Given the description of an element on the screen output the (x, y) to click on. 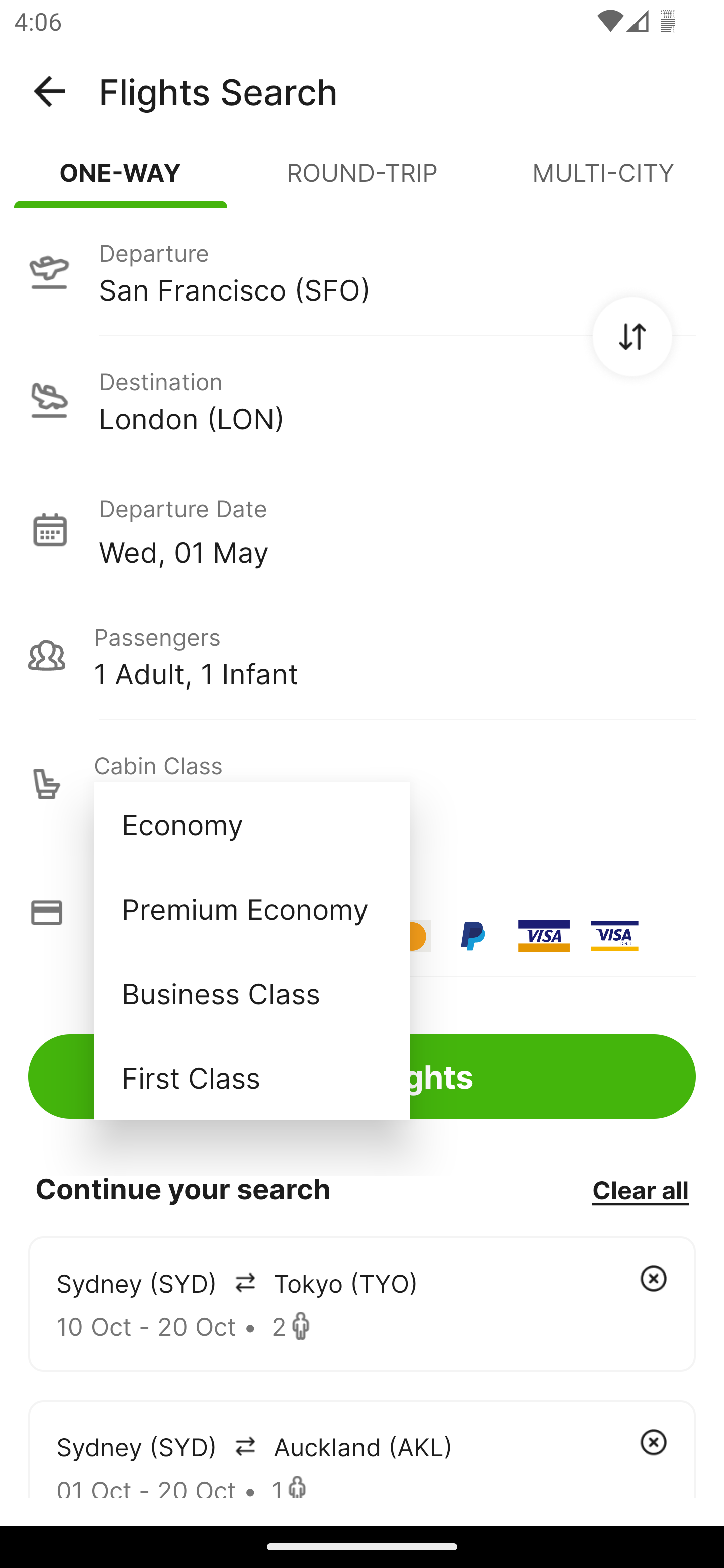
Economy (251, 824)
Premium Economy (251, 908)
Business Class (251, 992)
First Class (251, 1076)
